Given the description of an element on the screen output the (x, y) to click on. 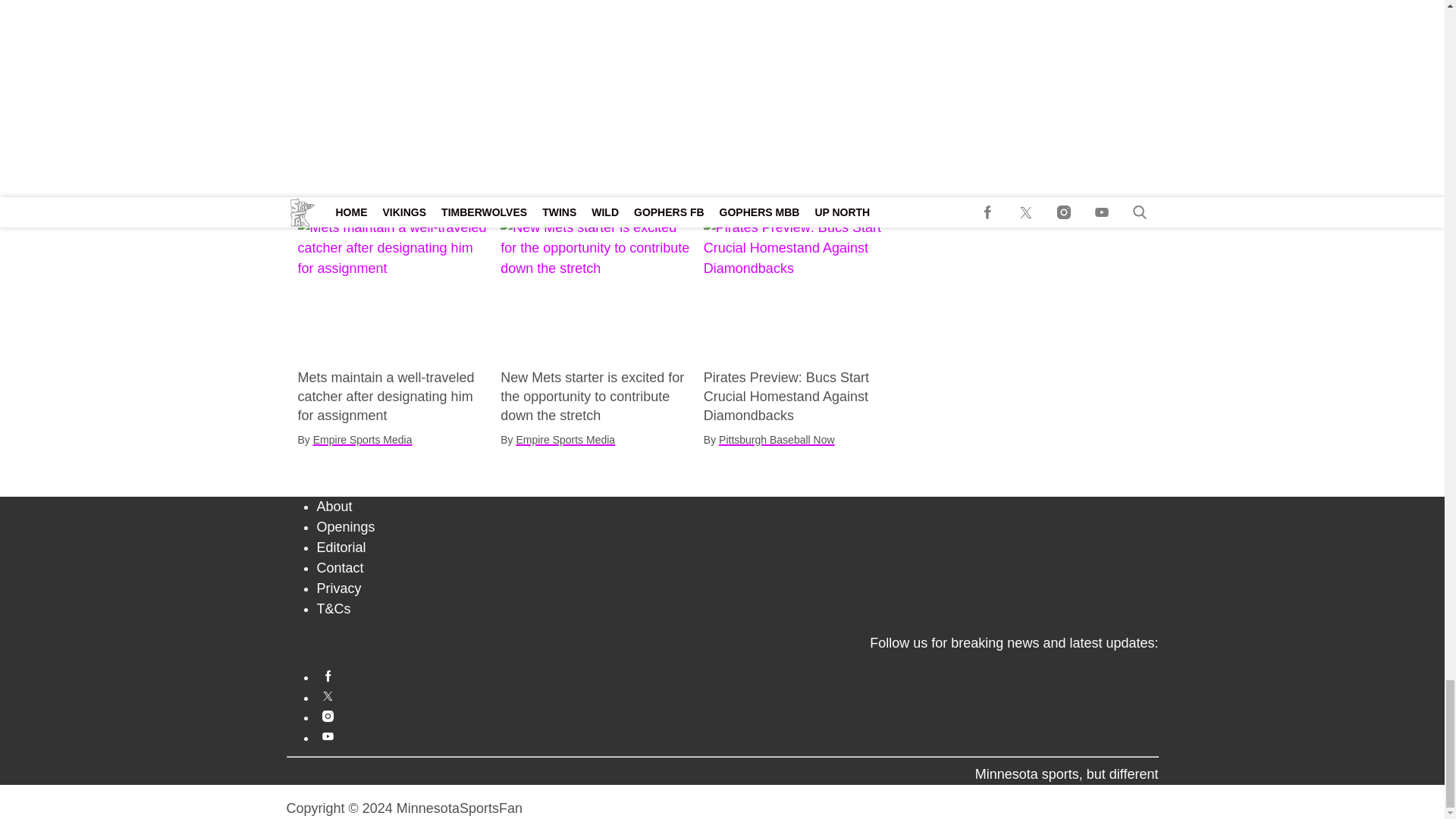
Follow us on Facebook (737, 675)
Follow us on Twitter (737, 696)
Follow us on Instagram (737, 715)
Subscribe to our YouTube channel (737, 736)
